Given the description of an element on the screen output the (x, y) to click on. 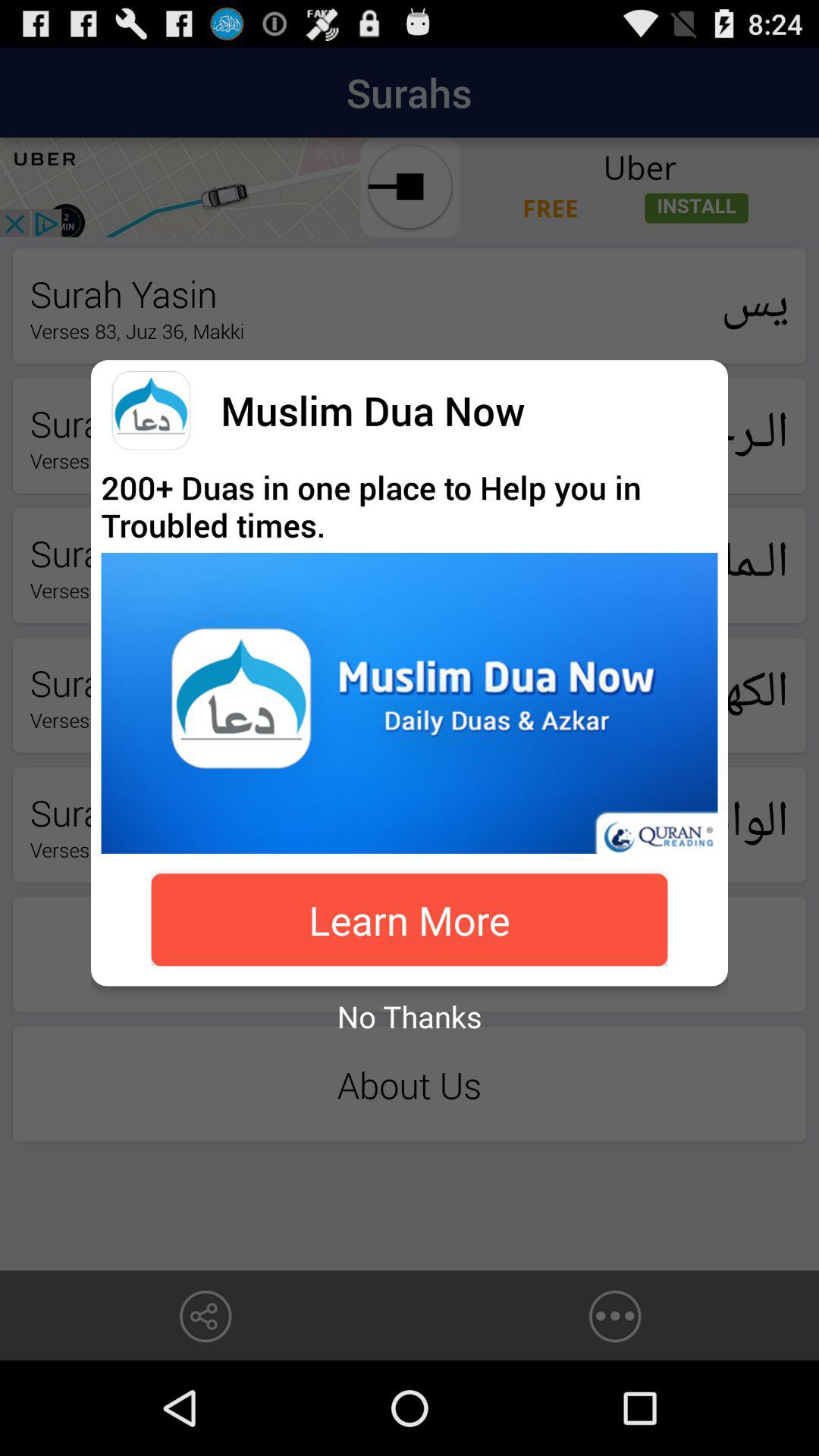
launch the app below learn more (409, 1016)
